Given the description of an element on the screen output the (x, y) to click on. 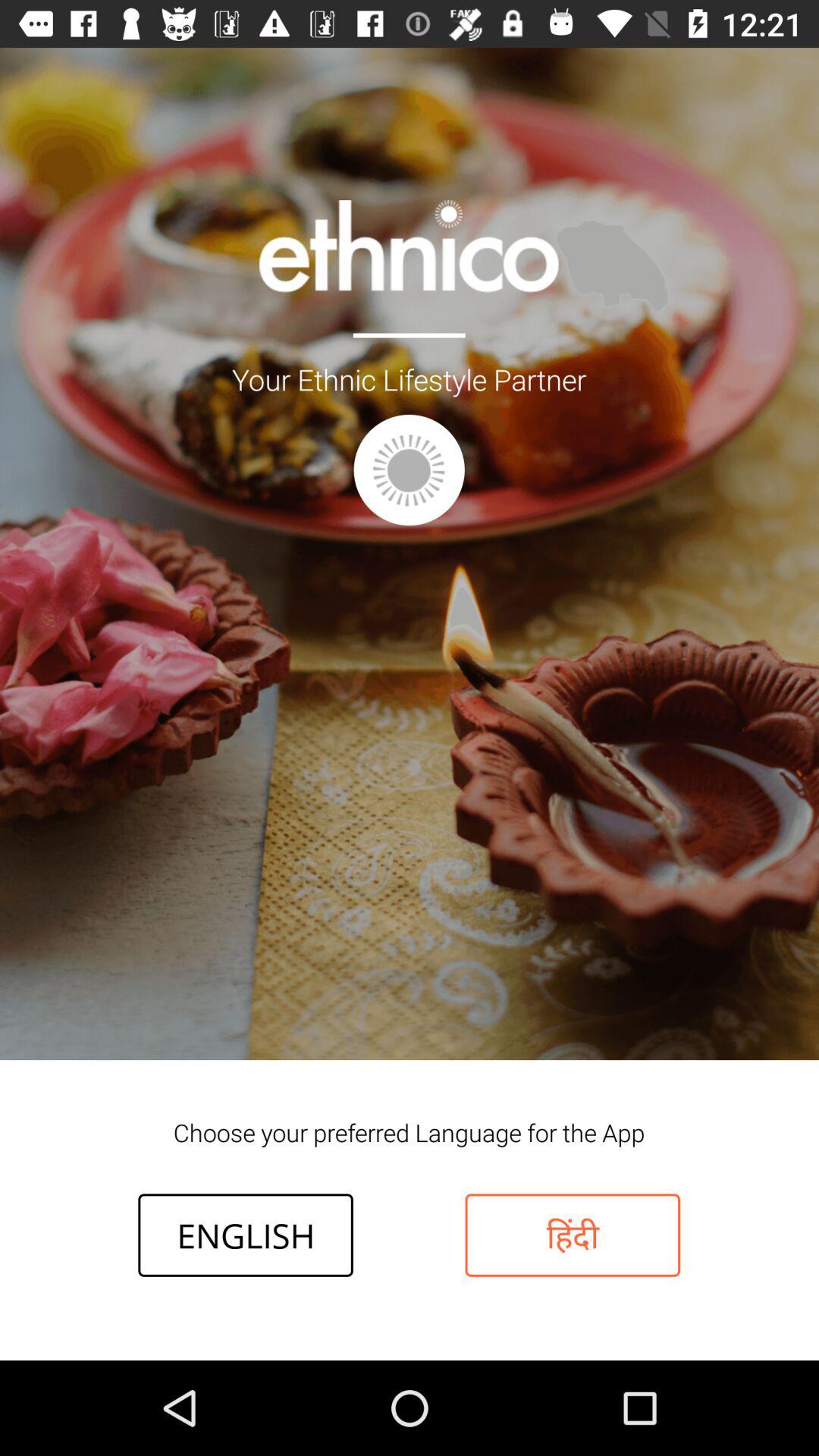
press the english icon (245, 1234)
